Given the description of an element on the screen output the (x, y) to click on. 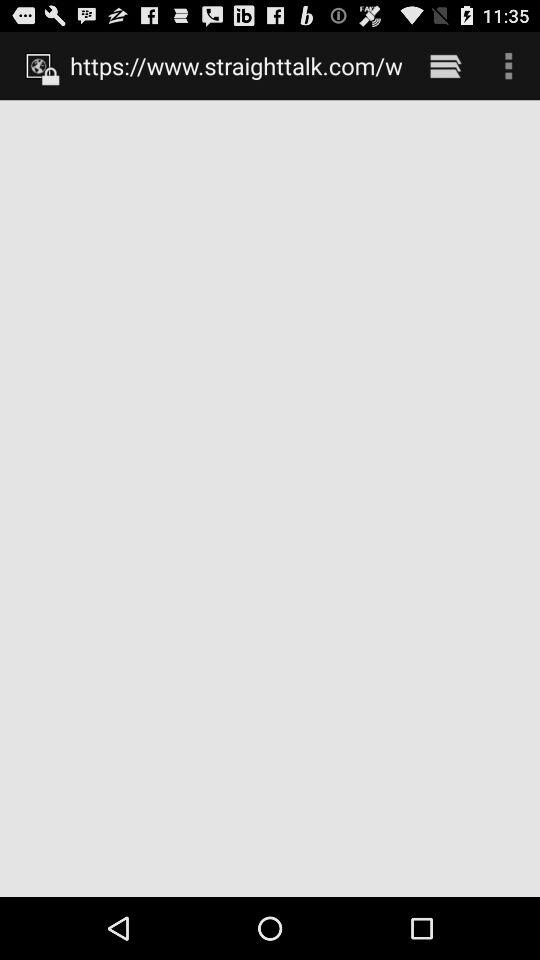
turn on the icon below https www straighttalk (270, 497)
